Given the description of an element on the screen output the (x, y) to click on. 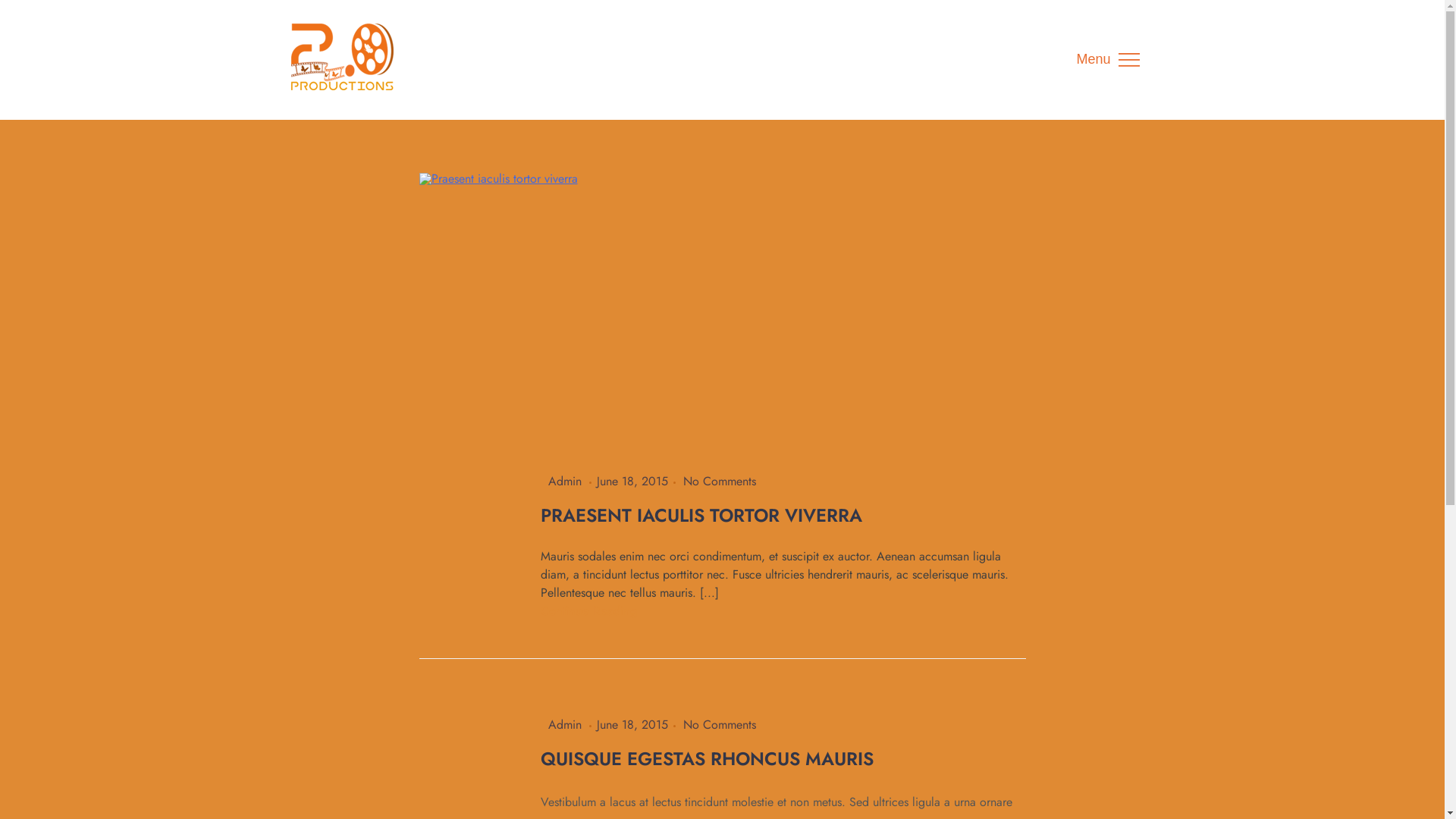
HOME Element type: text (458, 49)
BEHIND THE SCENES Element type: text (438, 209)
No Comments Element type: text (718, 480)
CONTACT US Element type: text (418, 370)
Admin Element type: text (563, 480)
Menu Element type: text (1107, 59)
No Comments Element type: text (718, 724)
Continue Reading Element type: text (587, 610)
June 18, 2015 Element type: text (631, 724)
PRAESENT IACULIS TORTOR VIVERRA Element type: text (700, 515)
Admin Element type: text (563, 724)
CONTENT Element type: text (428, 290)
ABOUT US Element type: text (448, 130)
QUISQUE EGESTAS RHONCUS MAURIS Element type: text (705, 758)
June 18, 2015 Element type: text (631, 480)
